Given the description of an element on the screen output the (x, y) to click on. 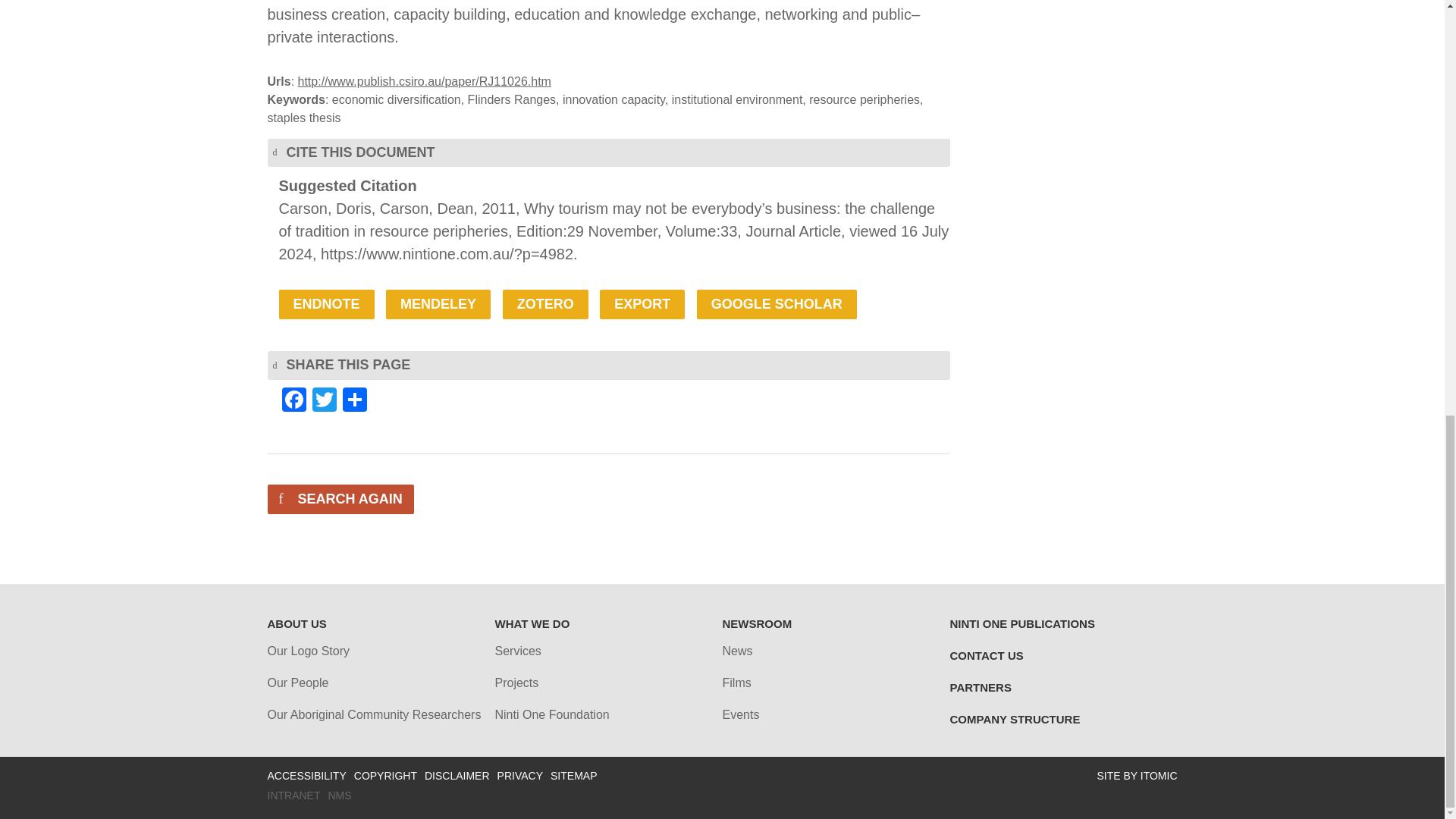
GOOGLE SCHOLAR (777, 304)
MENDELEY (437, 304)
EXPORT (641, 304)
Twitter (323, 401)
Facebook (293, 401)
Mendeley (437, 304)
Facebook (293, 401)
EndNote Capture (326, 304)
Zotero (545, 304)
Check on google scholar (777, 304)
SEARCH AGAIN (339, 499)
Twitter (323, 401)
ENDNOTE (326, 304)
ZOTERO (545, 304)
Export Citation (641, 304)
